Given the description of an element on the screen output the (x, y) to click on. 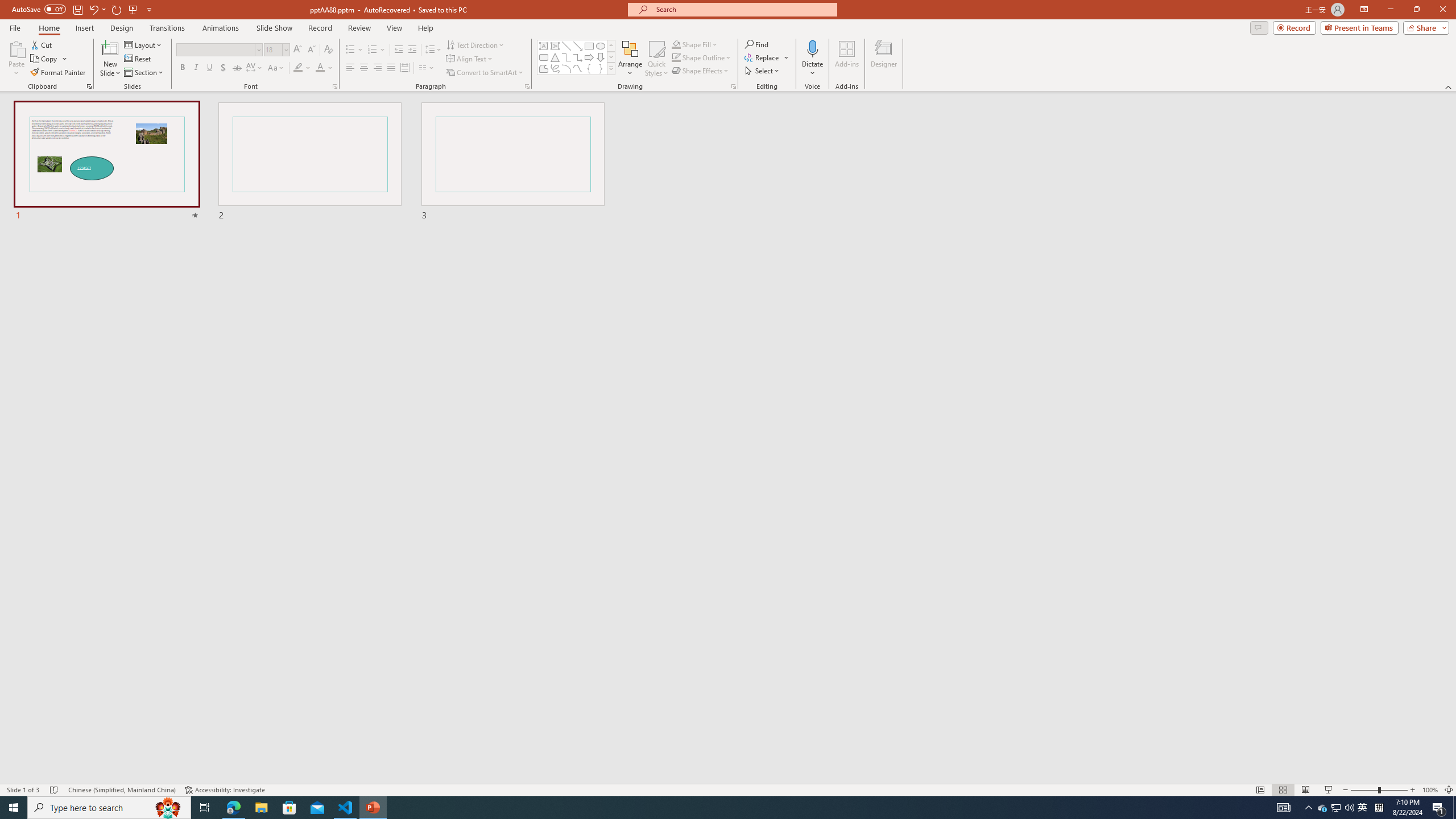
Font... (334, 85)
Decrease Indent (398, 49)
Cut (42, 44)
Text Direction (476, 44)
Rectangle (589, 45)
AutomationID: ShapesInsertGallery (576, 57)
Shape Outline Teal, Accent 1 (675, 56)
